Given the description of an element on the screen output the (x, y) to click on. 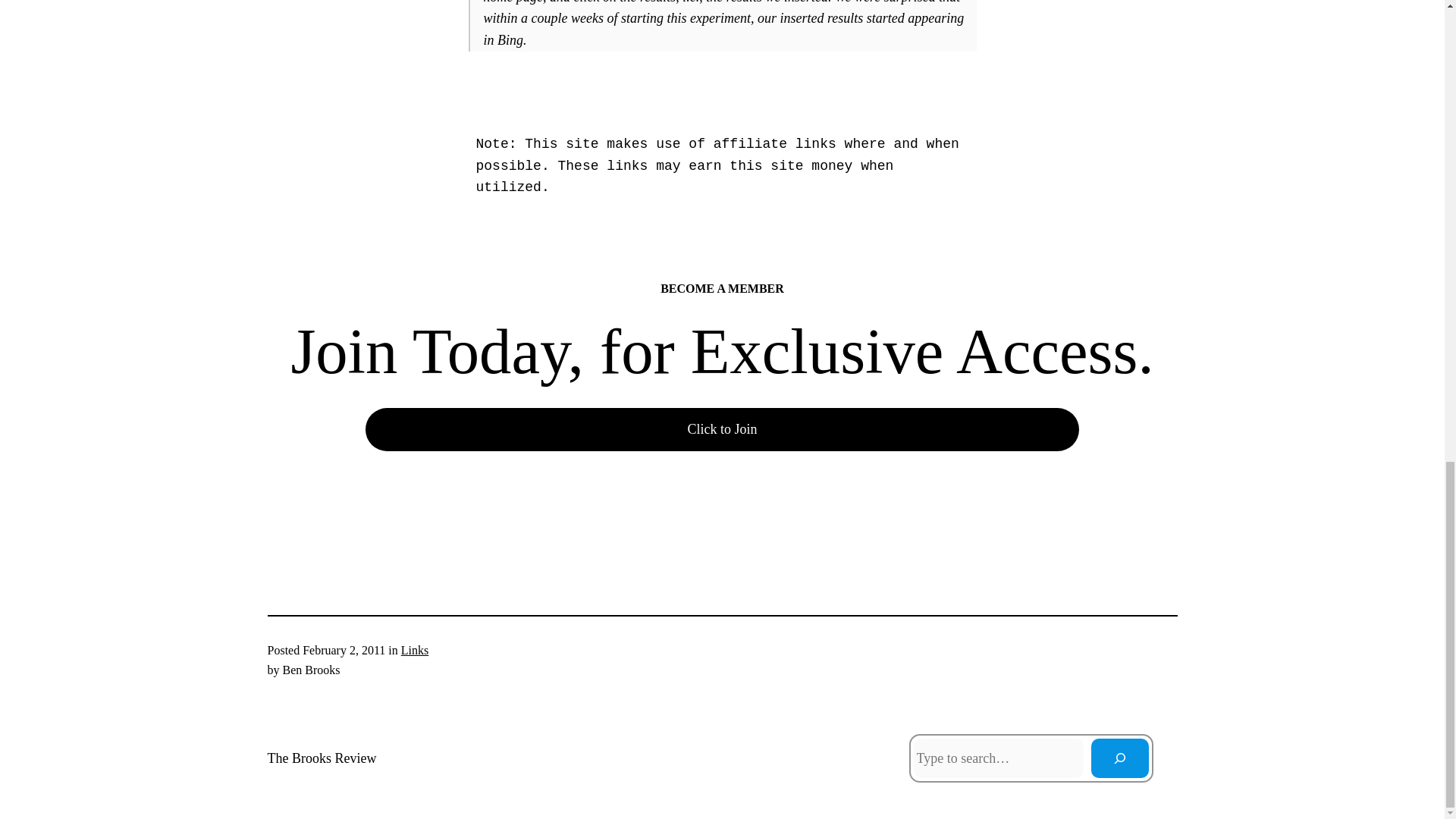
Click to Join (721, 429)
The Brooks Review (320, 758)
Links (414, 649)
